Given the description of an element on the screen output the (x, y) to click on. 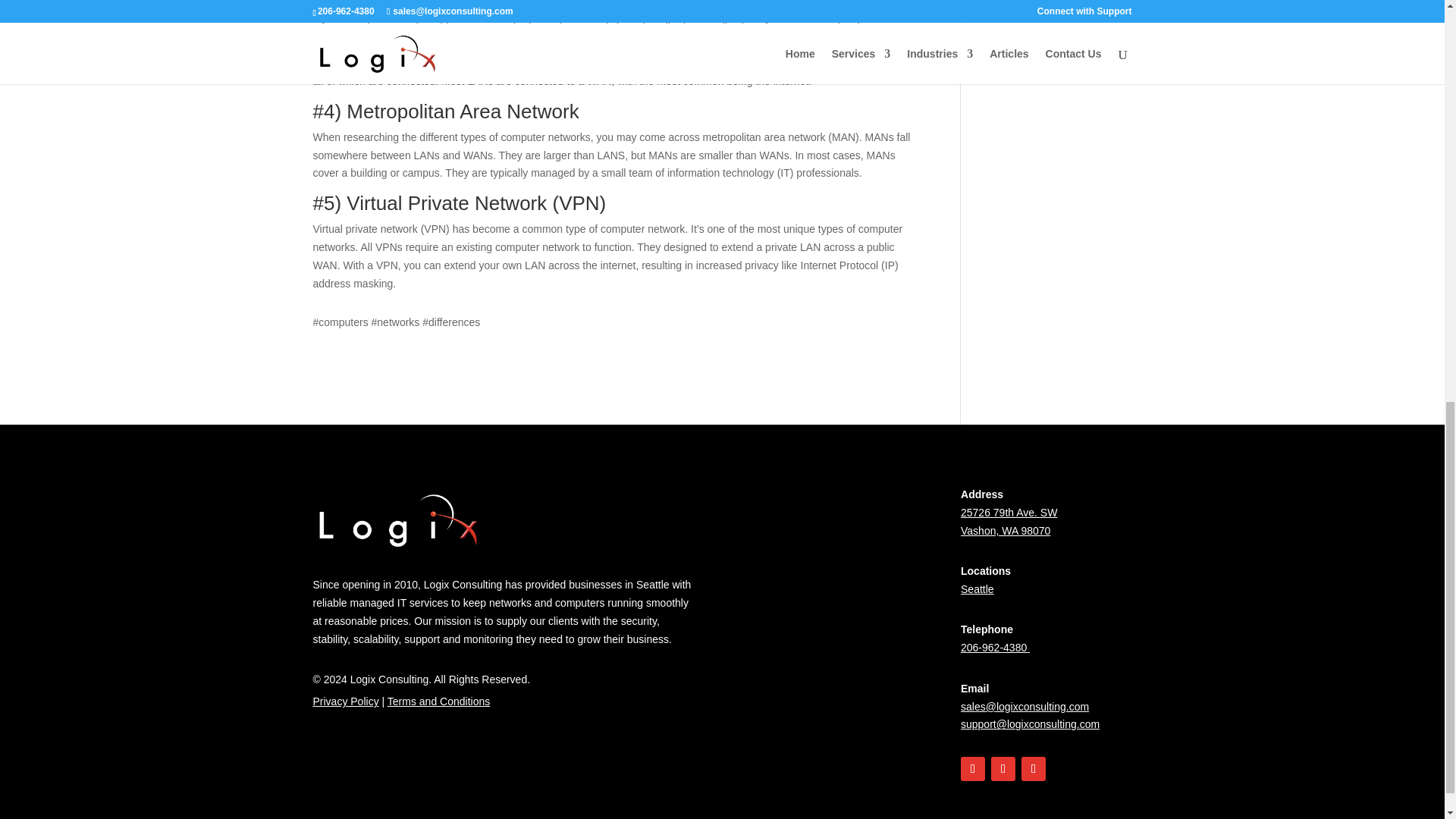
Follow on LinkedIn (1033, 768)
Follow on Facebook (972, 768)
Logix-Logo-White (399, 520)
Follow on X (1002, 768)
